Given the description of an element on the screen output the (x, y) to click on. 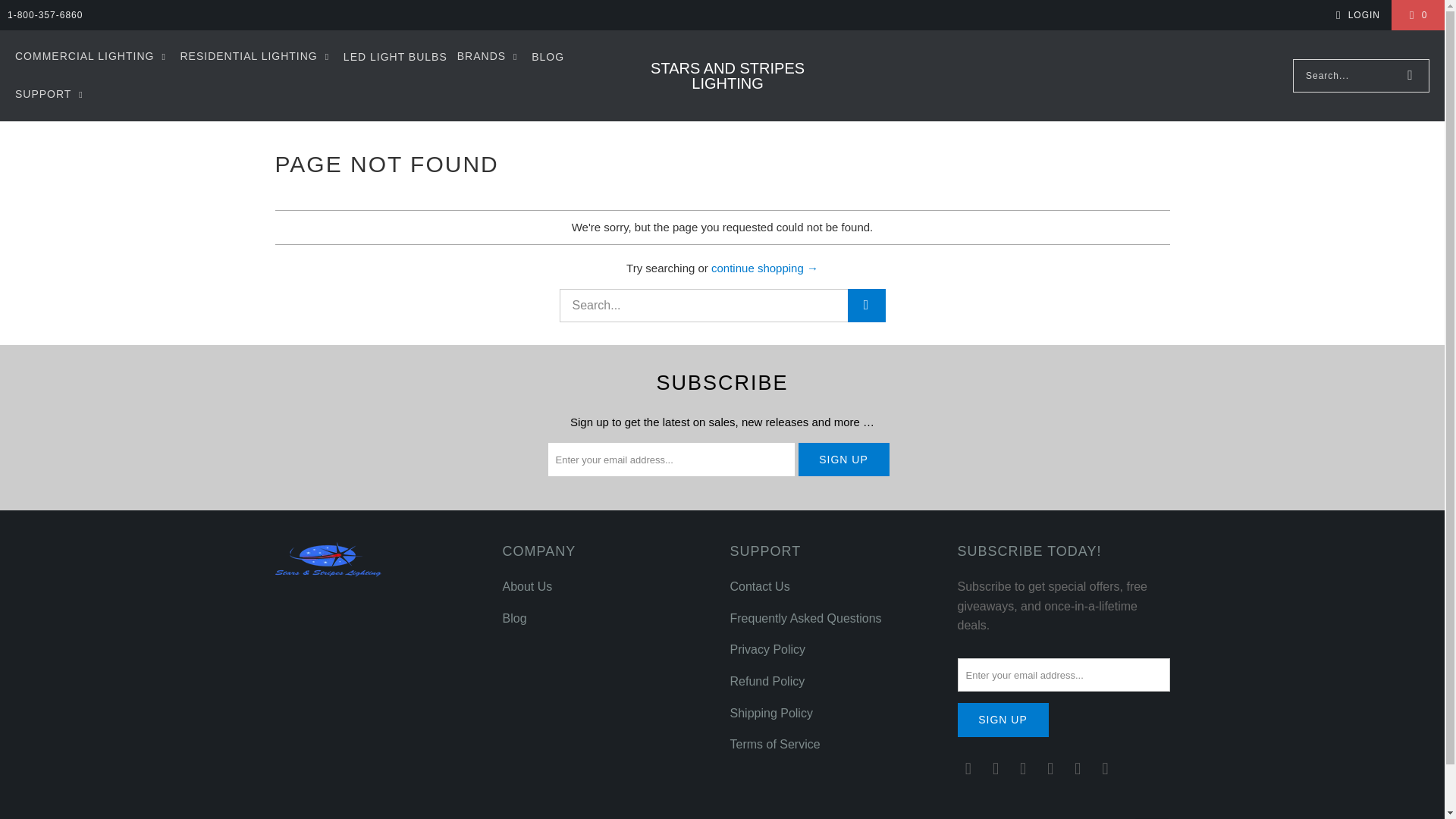
Stars and Stripes Lighting on Facebook (996, 769)
Sign Up (1002, 719)
Stars and Stripes Lighting on Instagram (1023, 769)
Email Stars and Stripes Lighting (967, 769)
Stars and Stripes Lighting on YouTube (1105, 769)
Sign Up (842, 459)
